Given the description of an element on the screen output the (x, y) to click on. 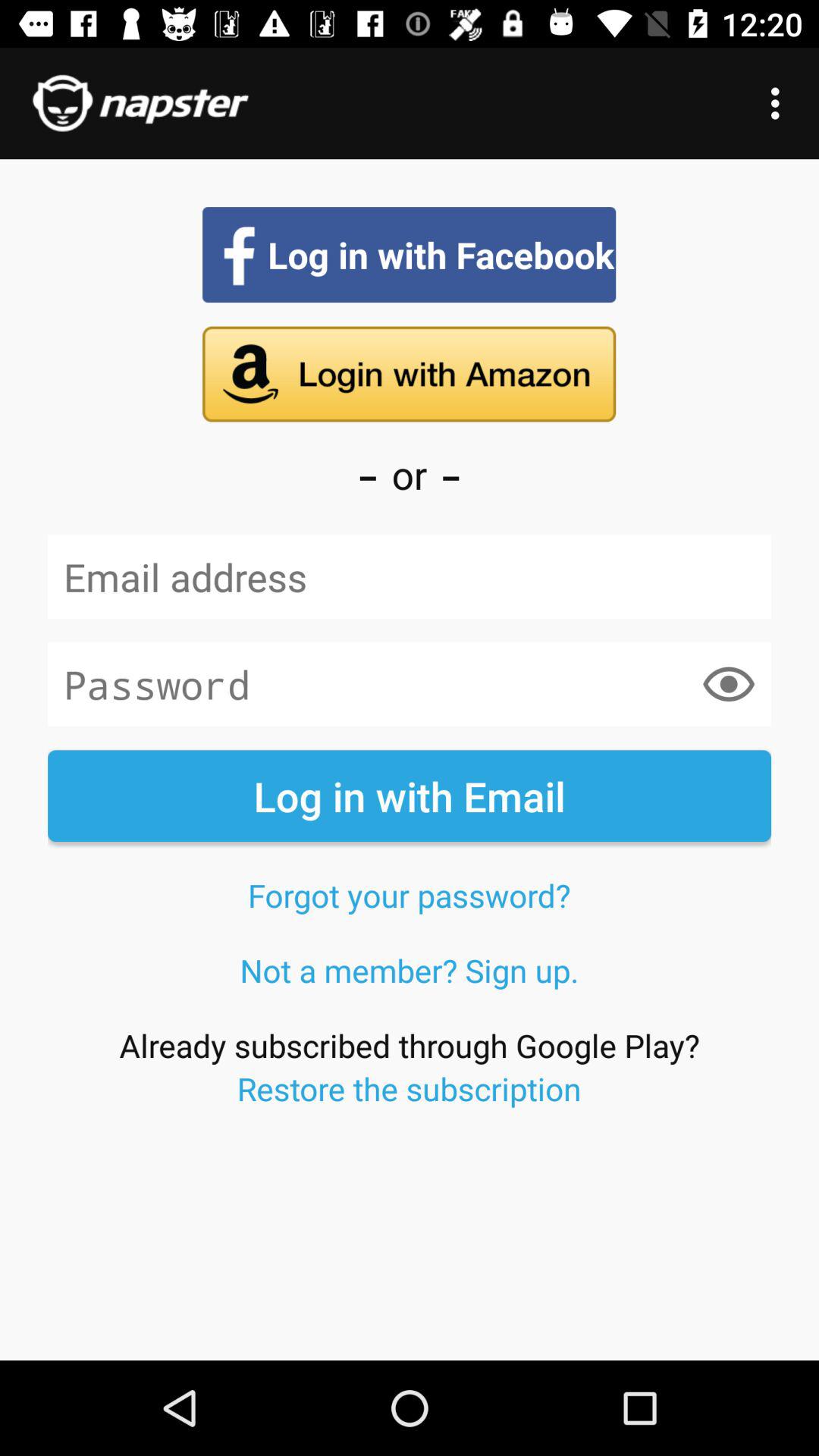
turn off restore the subscription (409, 1088)
